Given the description of an element on the screen output the (x, y) to click on. 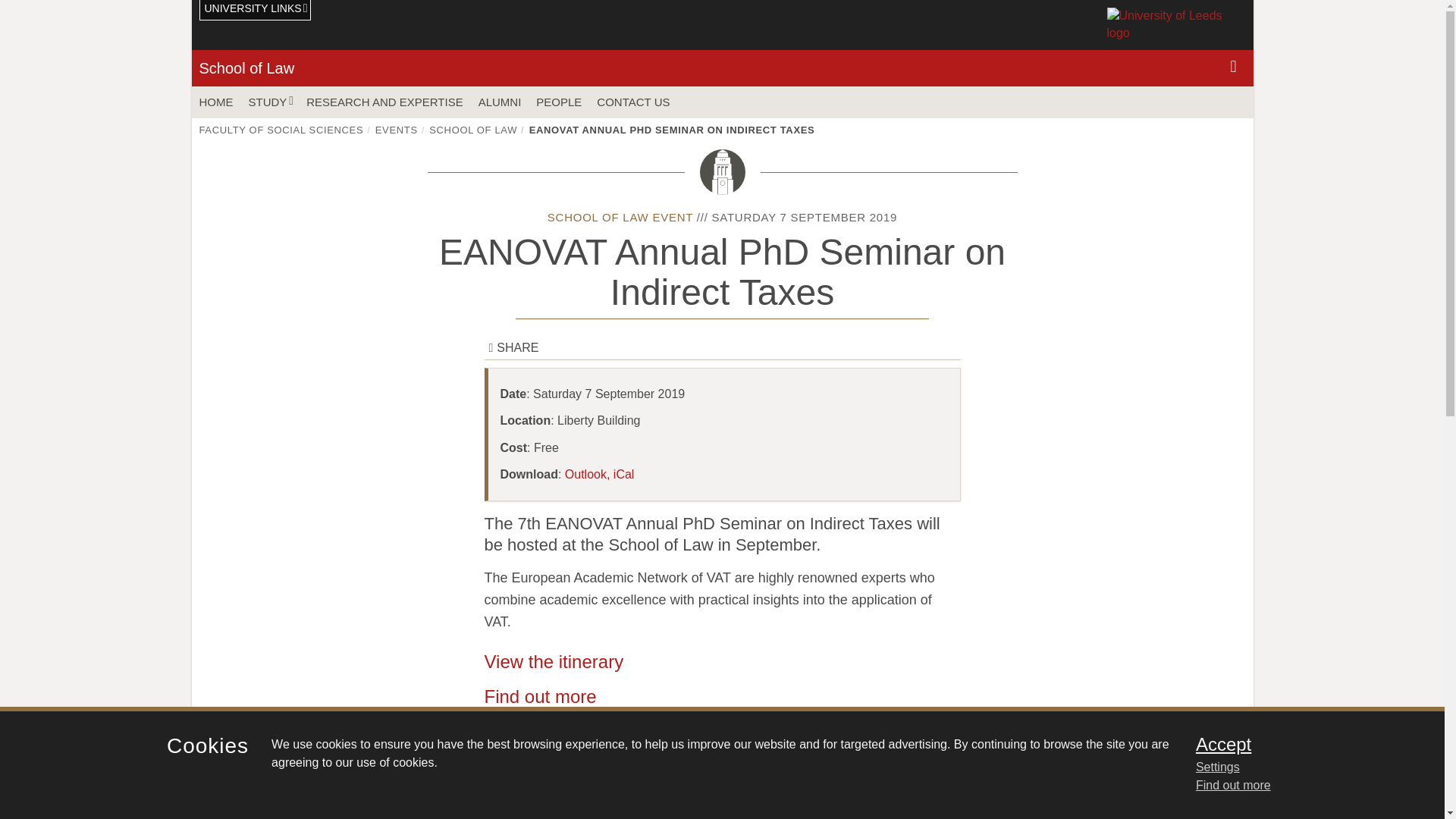
Accept (1300, 744)
UNIVERSITY LINKS (254, 10)
University of Leeds homepage (1176, 24)
Settings (1300, 767)
Find out more (1233, 784)
